Given the description of an element on the screen output the (x, y) to click on. 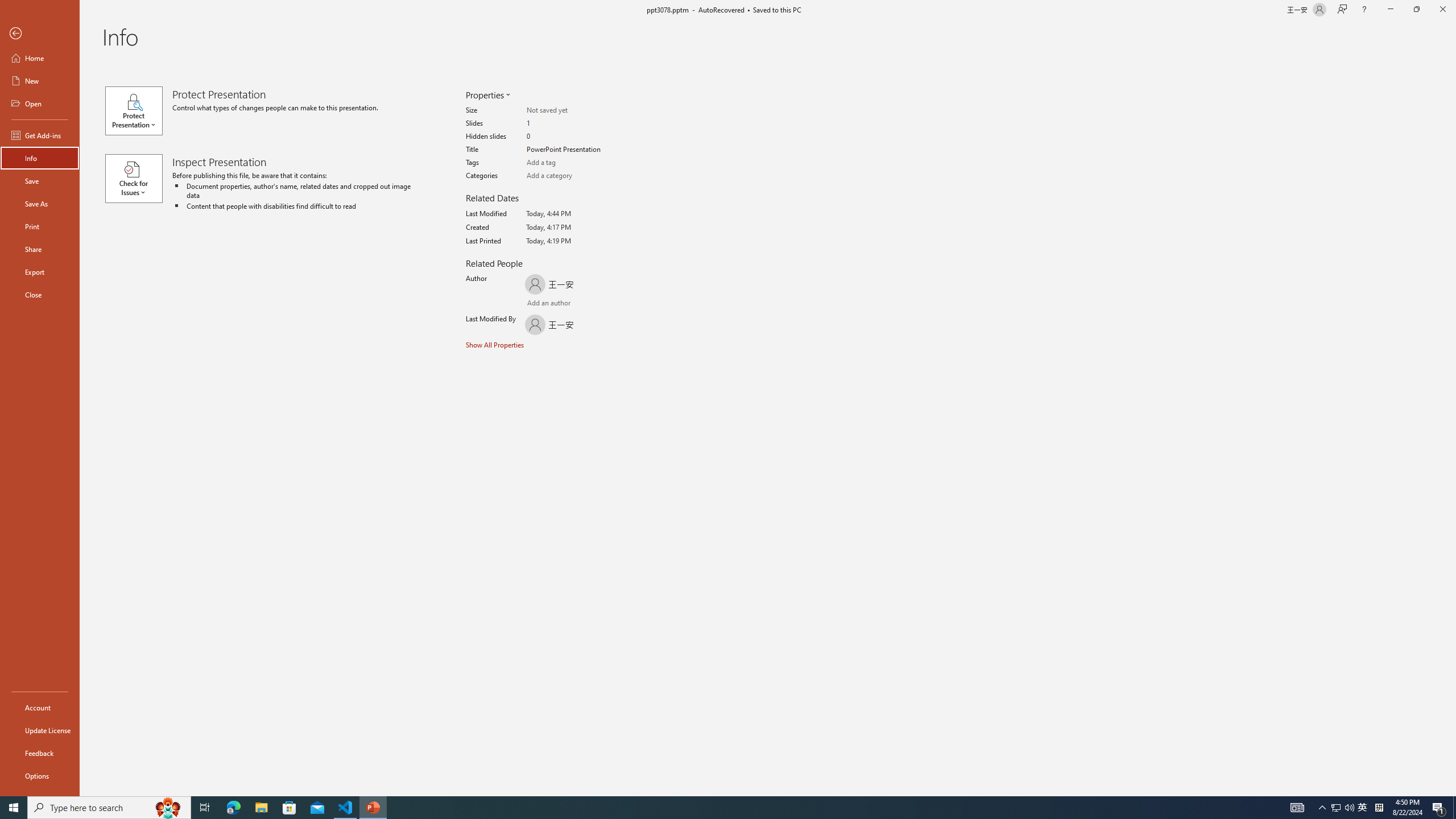
Export (40, 271)
Account (40, 707)
Save As (40, 203)
Title (571, 149)
Info (40, 157)
Hidden slides (571, 136)
Add an author (538, 304)
Print (40, 225)
Back (40, 33)
Browse Address Book (595, 304)
Update License (40, 730)
